Given the description of an element on the screen output the (x, y) to click on. 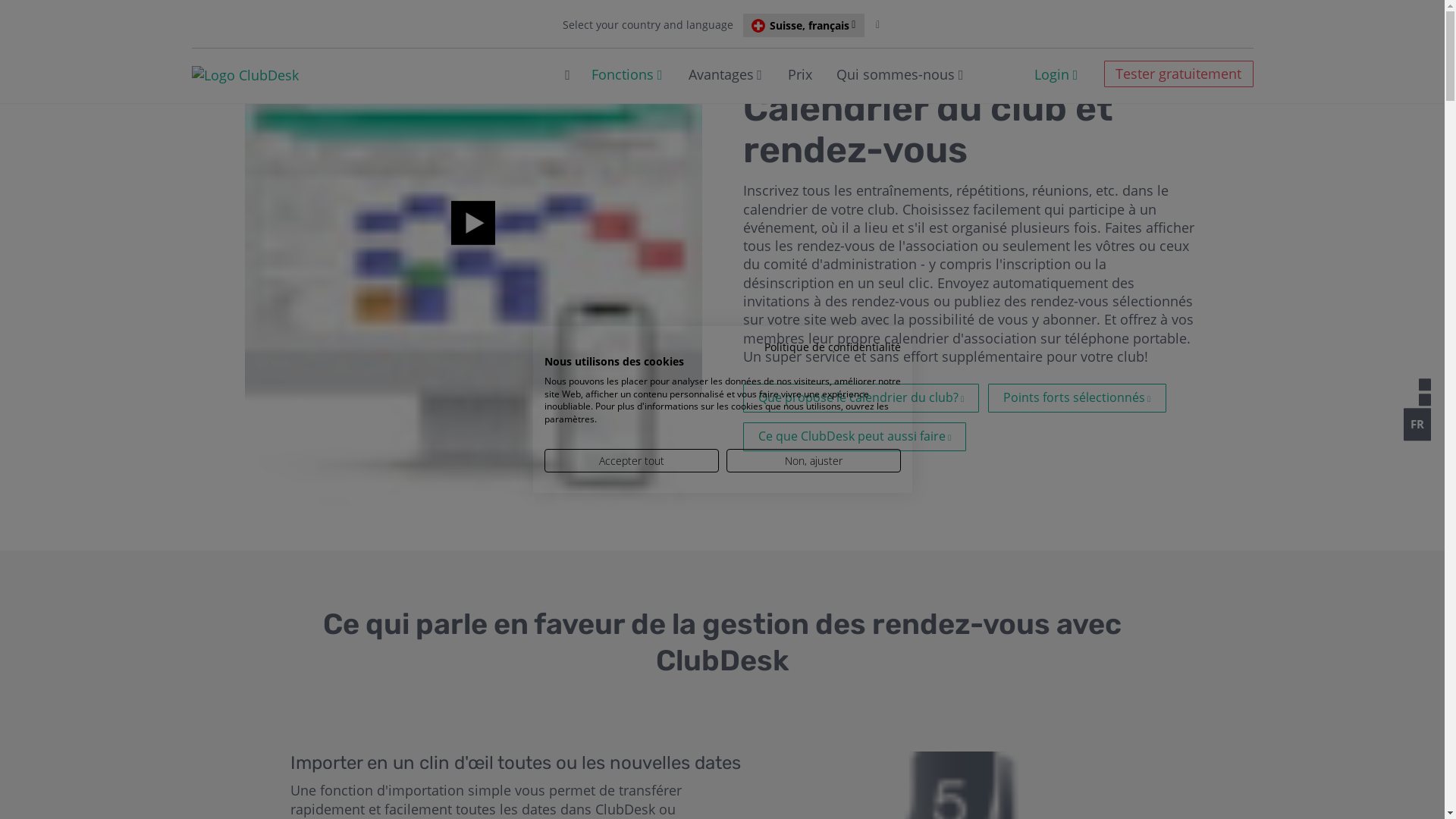
Que propose le calendrier du club? Element type: text (861, 397)
Avantages Element type: text (720, 74)
Accepter tout Element type: text (631, 460)
Non, ajuster Element type: text (813, 460)
Tester gratuitement Element type: text (1178, 73)
Ce que ClubDesk peut aussi faire Element type: text (854, 436)
Fonctions Element type: text (234, 16)
Qui sommes-nous Element type: text (895, 74)
Fonctions Element type: text (622, 74)
Prix Element type: text (799, 74)
Login Element type: text (1049, 74)
